Given the description of an element on the screen output the (x, y) to click on. 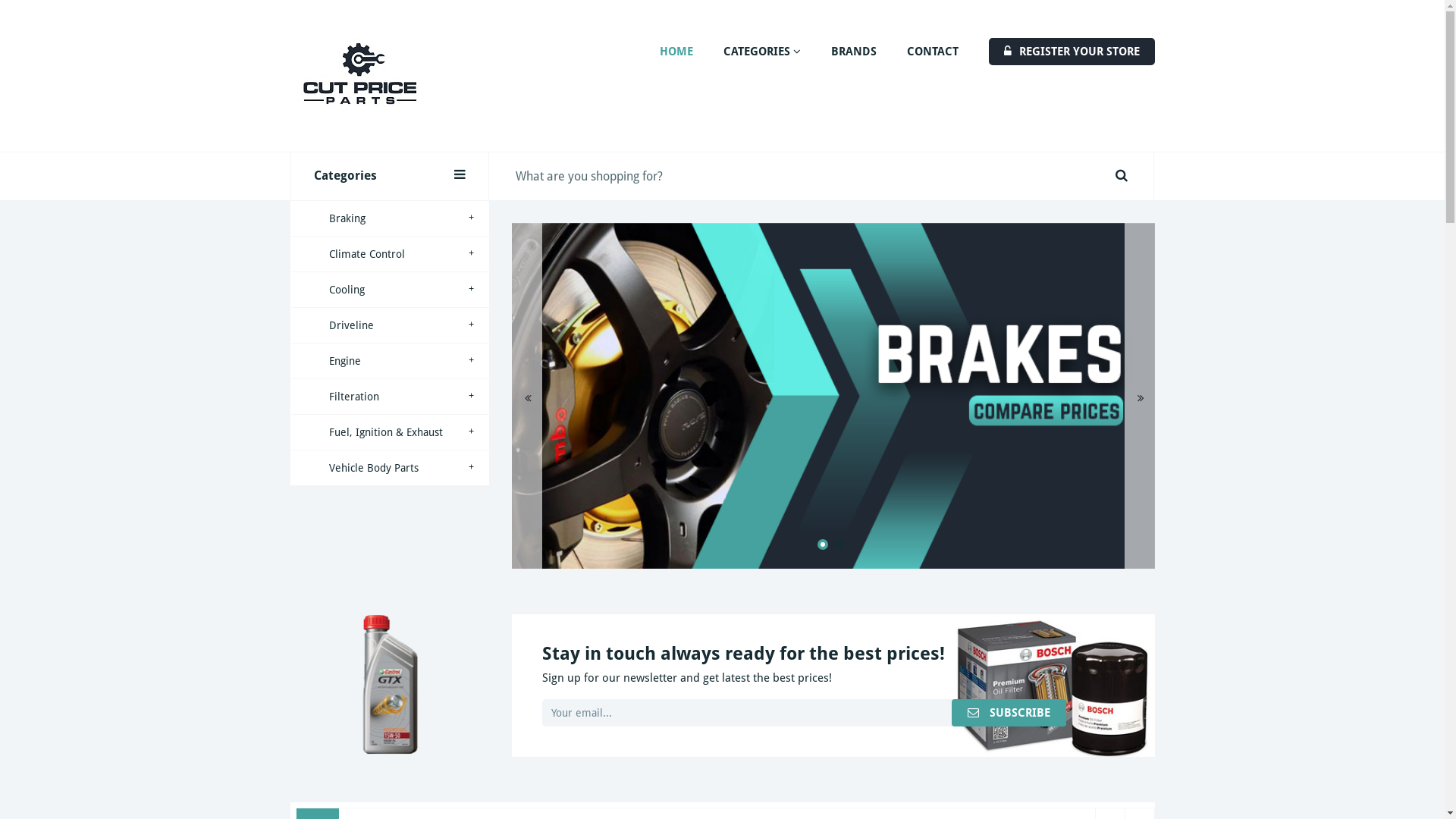
Categories Element type: text (388, 176)
HOME Element type: text (676, 51)
REGISTER YOUR STORE Element type: text (1071, 51)
+
Engine Element type: text (388, 361)
CATEGORIES Element type: text (761, 51)
BRANDS Element type: text (853, 51)
CONTACT Element type: text (932, 51)
+
Driveline Element type: text (388, 325)
+
Fuel, Ignition & Exhaust Element type: text (388, 432)
+
Vehicle Body Parts Element type: text (388, 467)
+
Cooling Element type: text (388, 289)
+
Climate Control Element type: text (388, 254)
SUBSCRIBE Element type: text (1008, 712)
+
Filteration Element type: text (388, 396)
+
Braking Element type: text (388, 218)
